Given the description of an element on the screen output the (x, y) to click on. 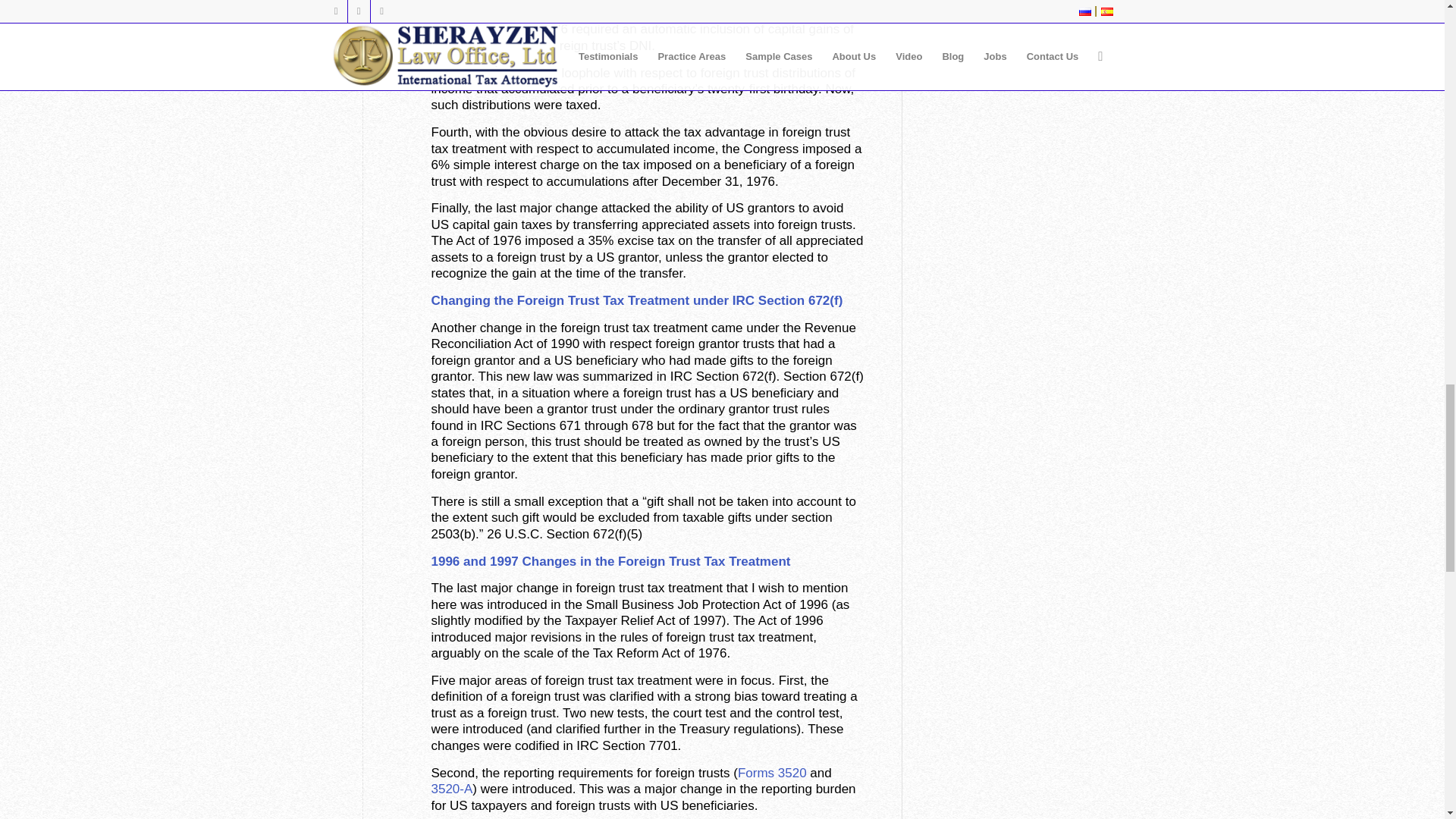
Forms 3520 (772, 772)
3520-A (450, 789)
